Given the description of an element on the screen output the (x, y) to click on. 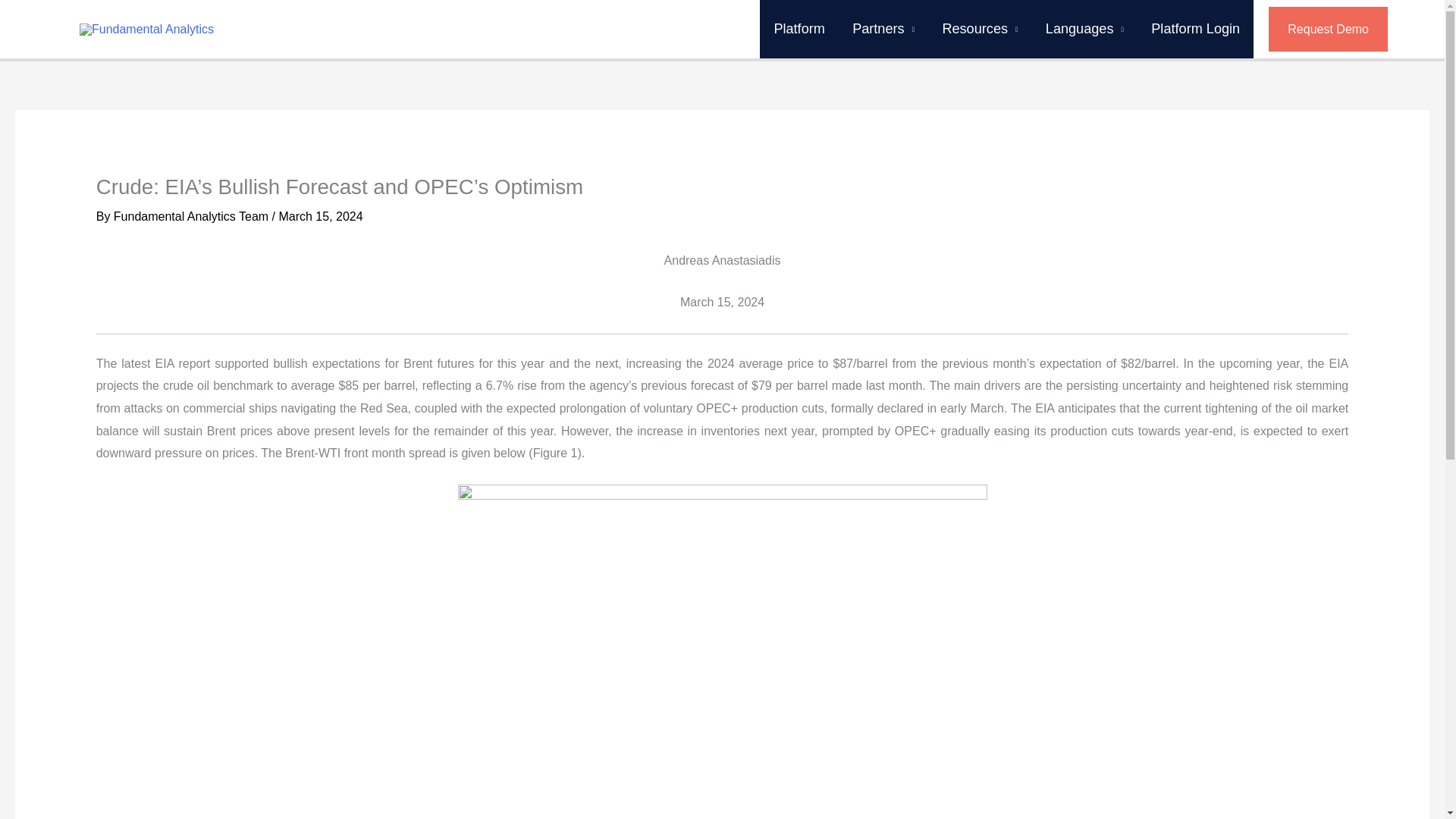
Languages (1084, 29)
View all posts by Fundamental Analytics Team (192, 215)
Platform (799, 29)
Platform Login (1195, 29)
Request Demo (1343, 29)
Resources (979, 29)
Partners (883, 29)
